Given the description of an element on the screen output the (x, y) to click on. 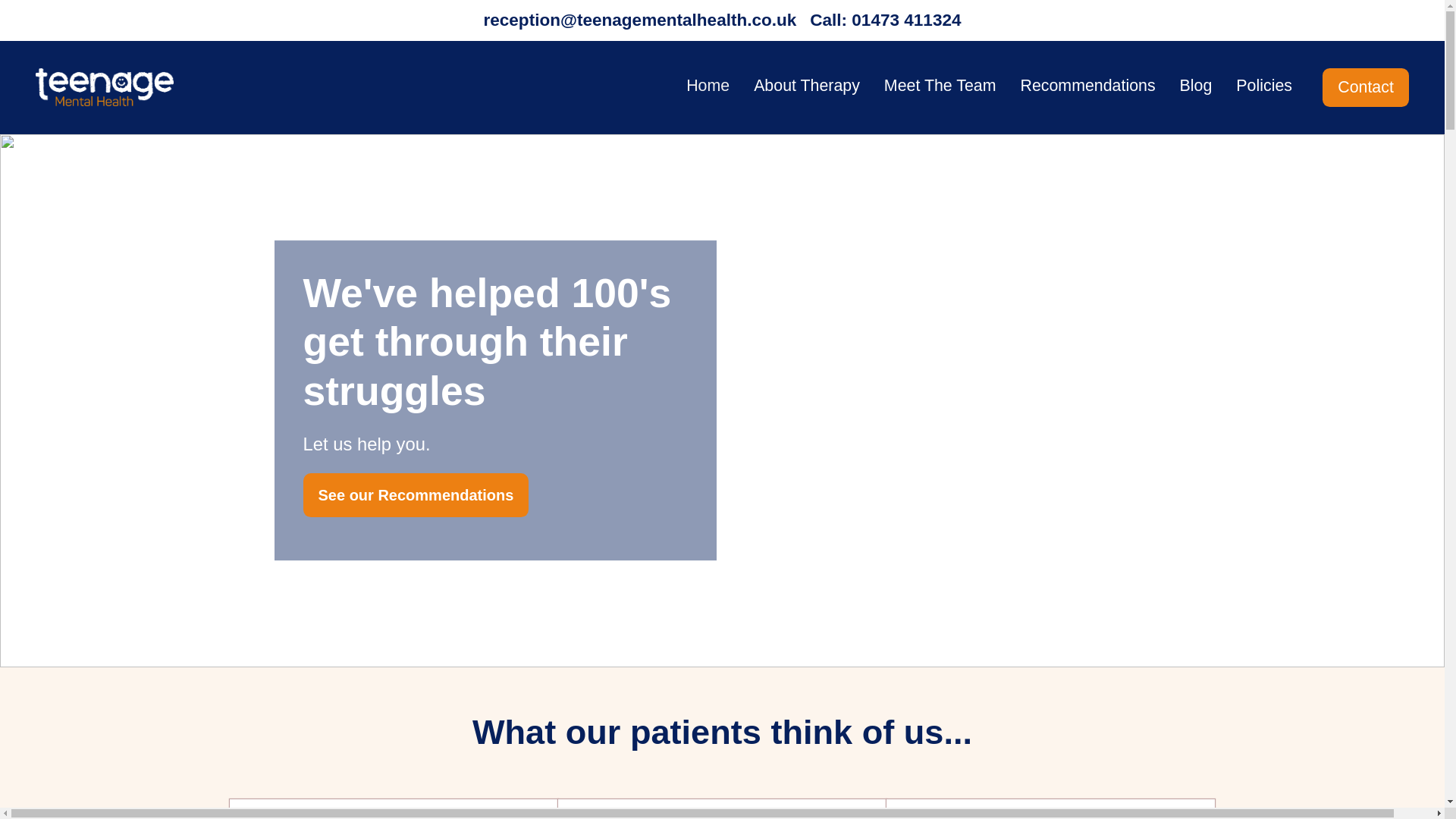
Recommendations (1087, 85)
Meet The Team (939, 85)
About Therapy (807, 85)
Home (707, 85)
Blog (1195, 85)
Policies (1264, 85)
Contact (1365, 87)
See our Recommendations (415, 494)
